Given the description of an element on the screen output the (x, y) to click on. 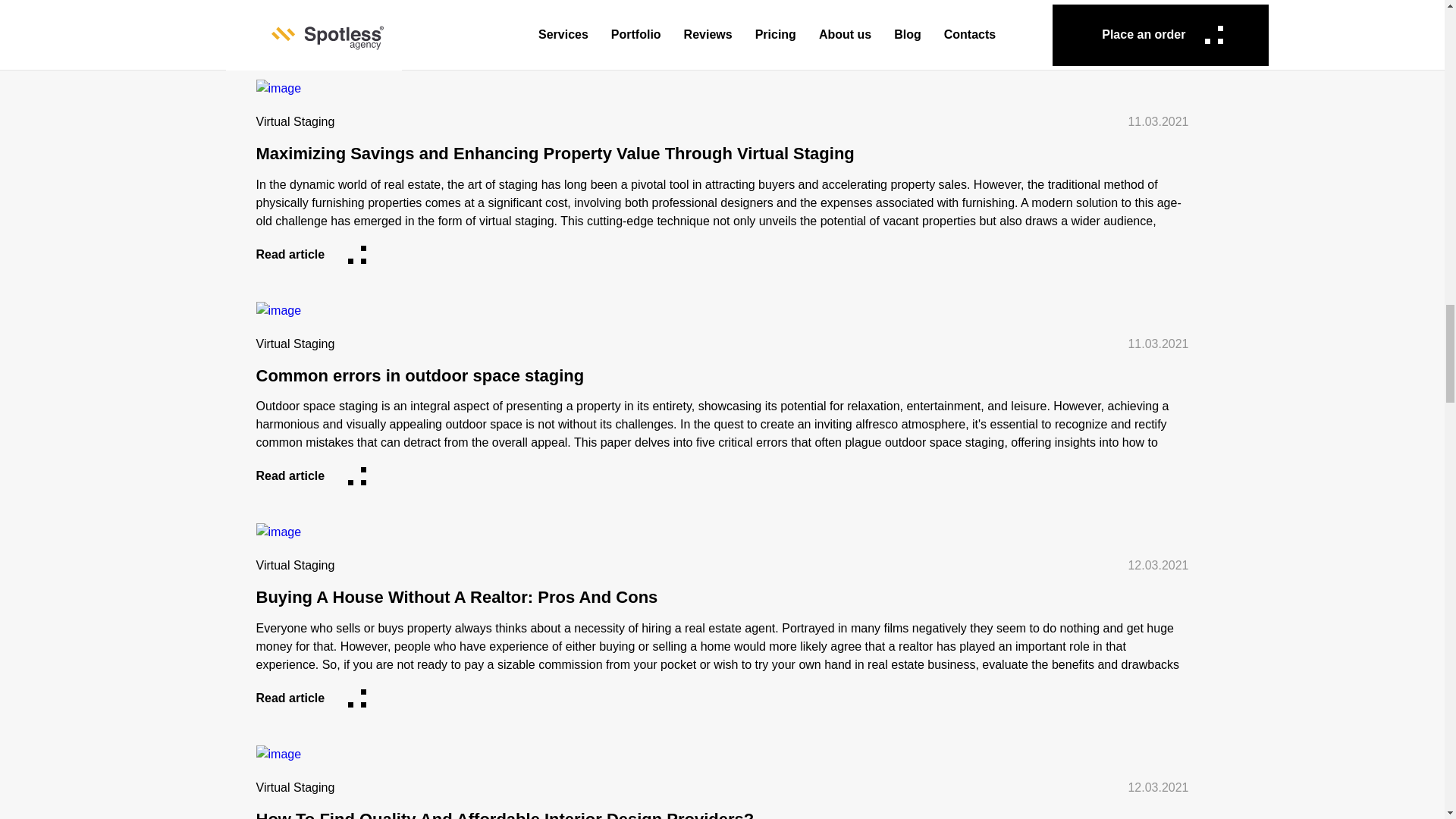
Read article (311, 254)
Common errors in outdoor space staging (722, 376)
Read article (311, 475)
